Given the description of an element on the screen output the (x, y) to click on. 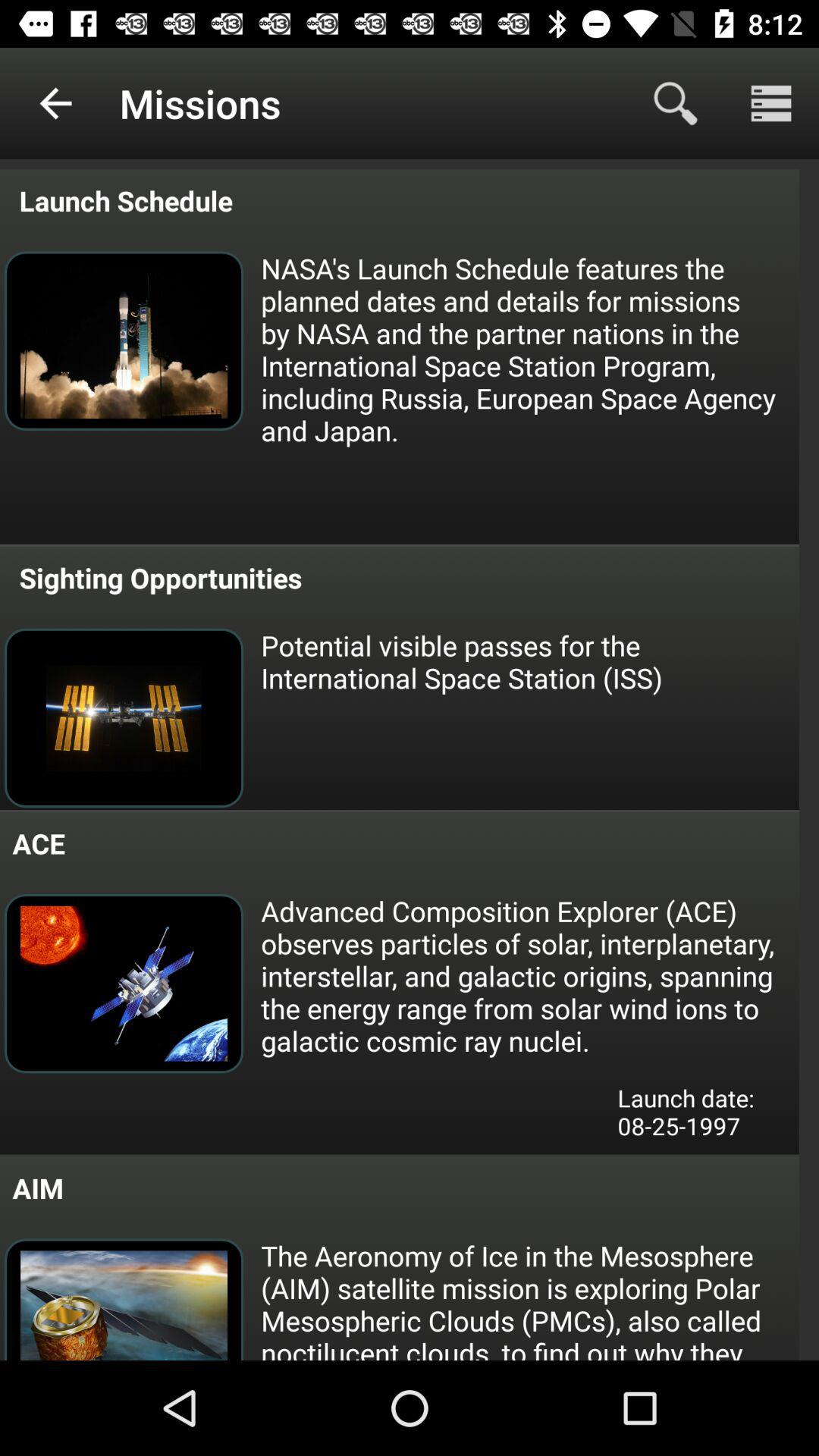
jump to the  sighting opportunities item (157, 577)
